Given the description of an element on the screen output the (x, y) to click on. 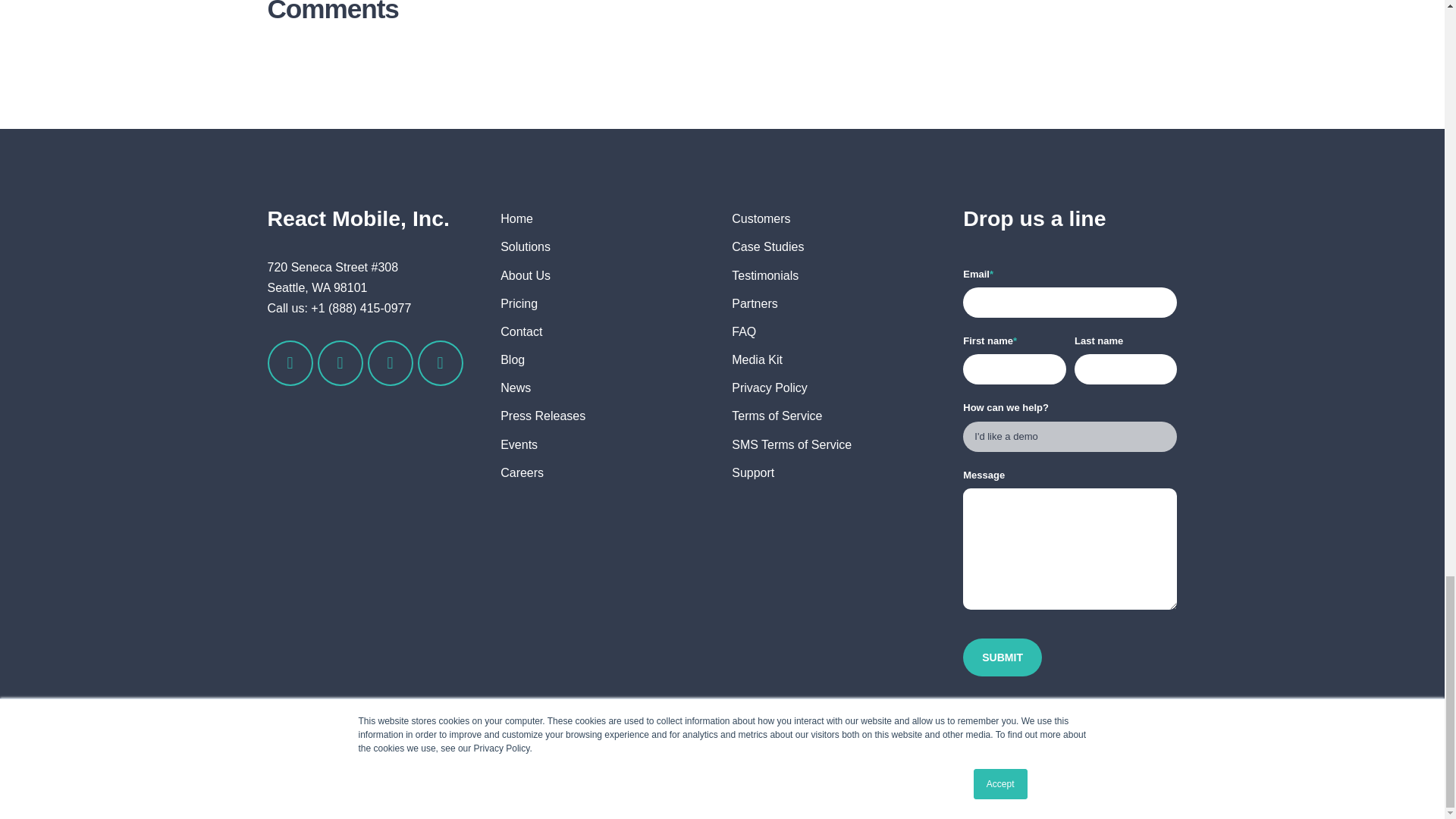
Submit (1002, 657)
